Given the description of an element on the screen output the (x, y) to click on. 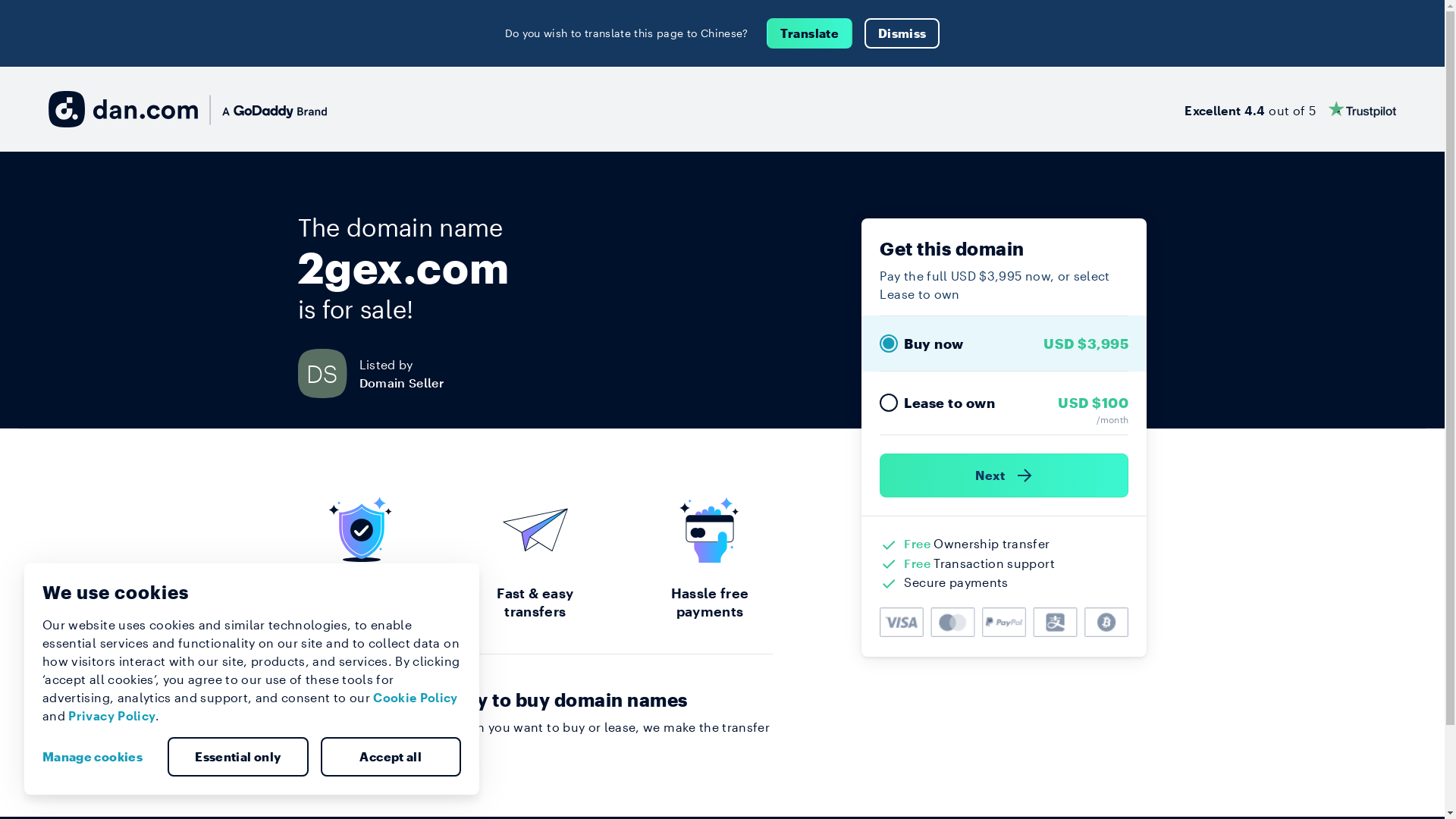
Dismiss Element type: text (901, 33)
Next
) Element type: text (1003, 475)
Privacy Policy Element type: text (111, 715)
Cookie Policy Element type: text (415, 697)
Manage cookies Element type: text (98, 756)
Excellent 4.4 out of 5 Element type: text (1290, 109)
Translate Element type: text (809, 33)
Essential only Element type: text (237, 756)
Accept all Element type: text (390, 756)
